Given the description of an element on the screen output the (x, y) to click on. 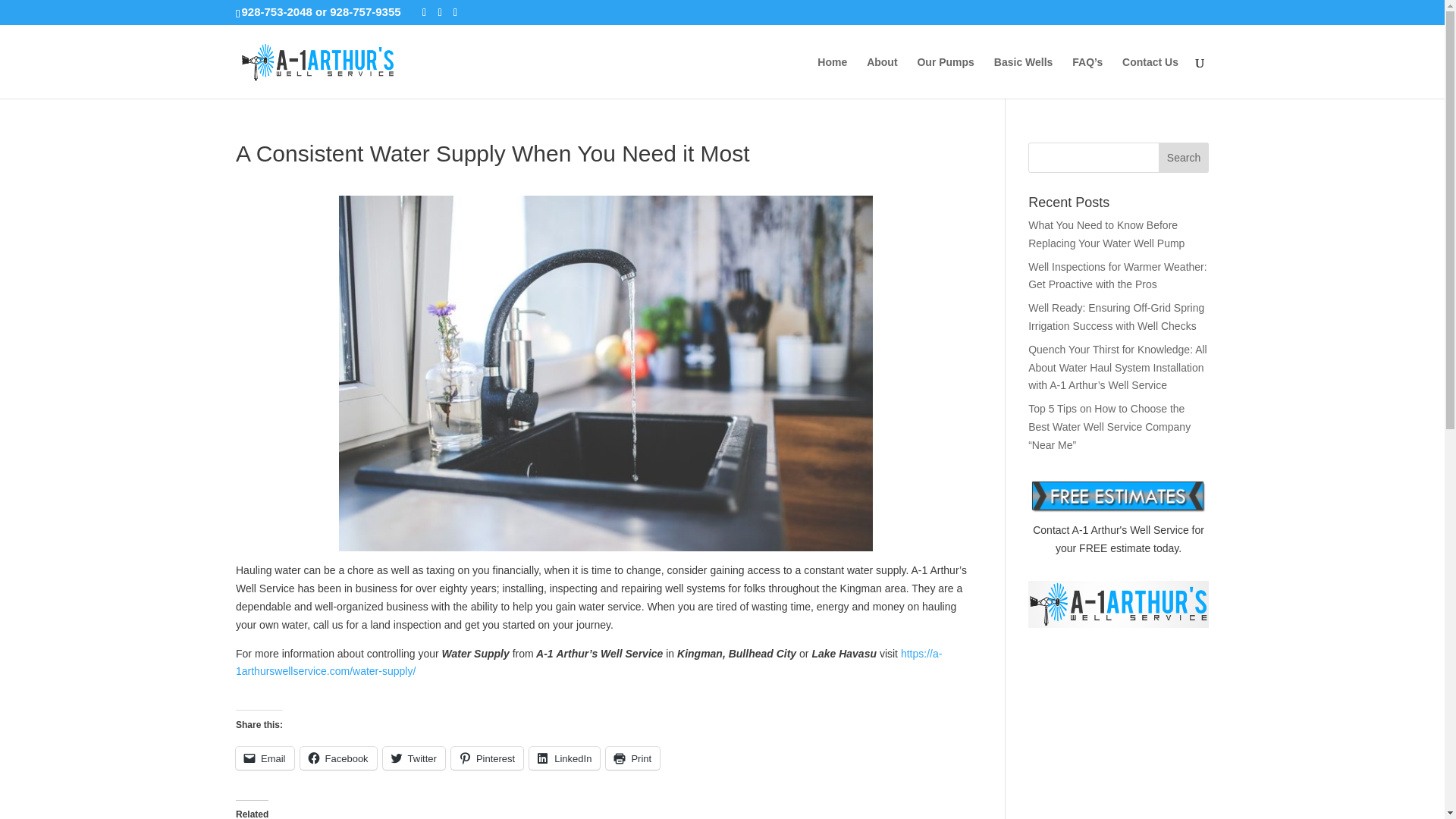
Click to print (632, 757)
LinkedIn (564, 757)
Email (264, 757)
What You Need to Know Before Replacing Your Water Well Pump (1106, 234)
Click to share on Facebook (338, 757)
Facebook (338, 757)
Our Pumps (945, 77)
Click to email a link to a friend (264, 757)
Search (1183, 157)
Water Supply (588, 662)
Click to share on Twitter (413, 757)
Contact Us (1149, 77)
Pinterest (486, 757)
Basic Wells (1023, 77)
Search (1183, 157)
